Given the description of an element on the screen output the (x, y) to click on. 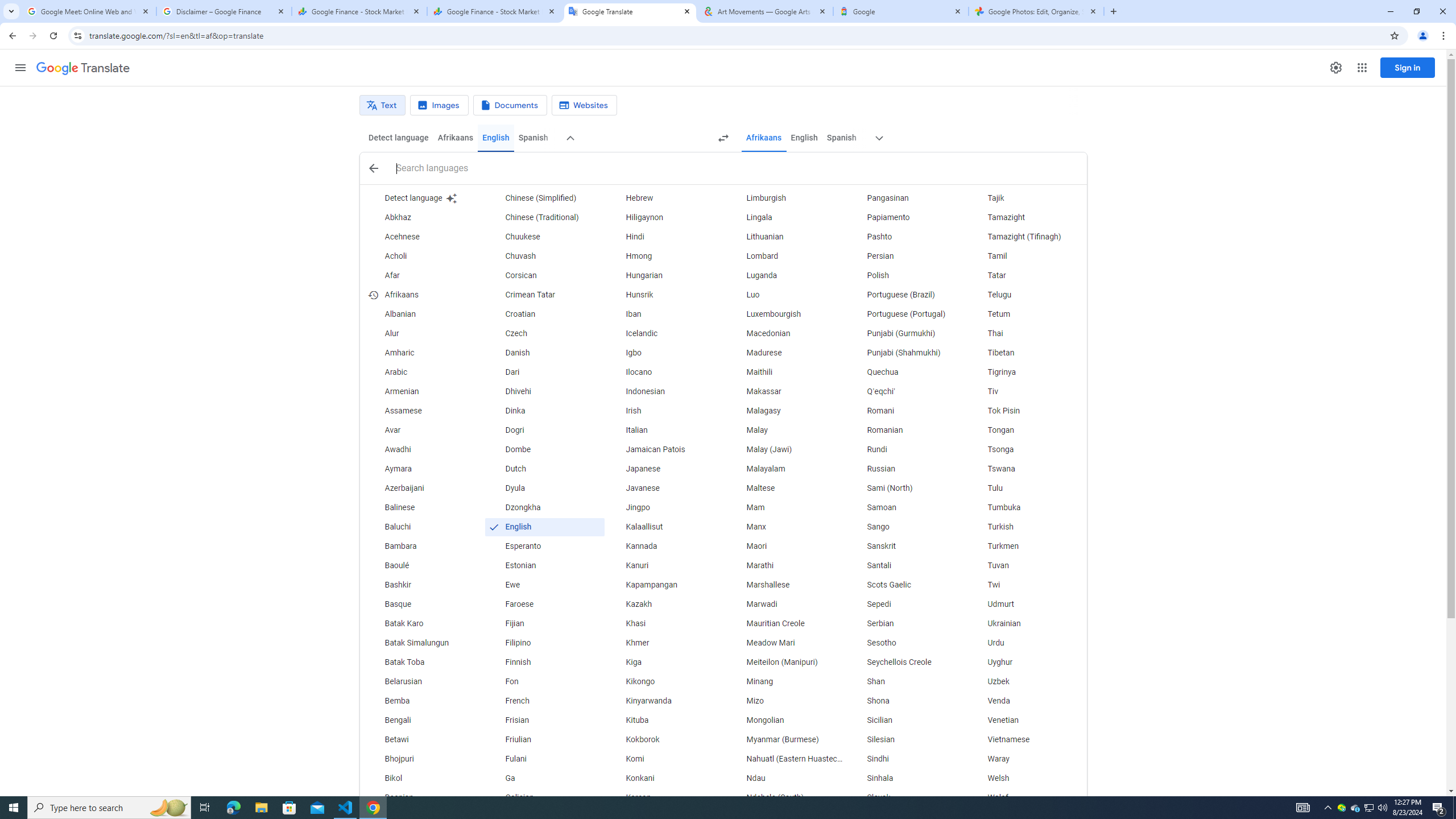
Dutch (544, 469)
Pashto (905, 236)
Ndebele (South) (785, 797)
English (recently used language) (544, 527)
More source languages (570, 137)
Jamaican Patois (665, 449)
French (544, 701)
Czech (544, 334)
Sepedi (905, 604)
Chinese (Traditional) (544, 217)
Malayalam (785, 469)
Dyula (544, 488)
Sesotho (905, 642)
Turkmen (1026, 546)
